Given the description of an element on the screen output the (x, y) to click on. 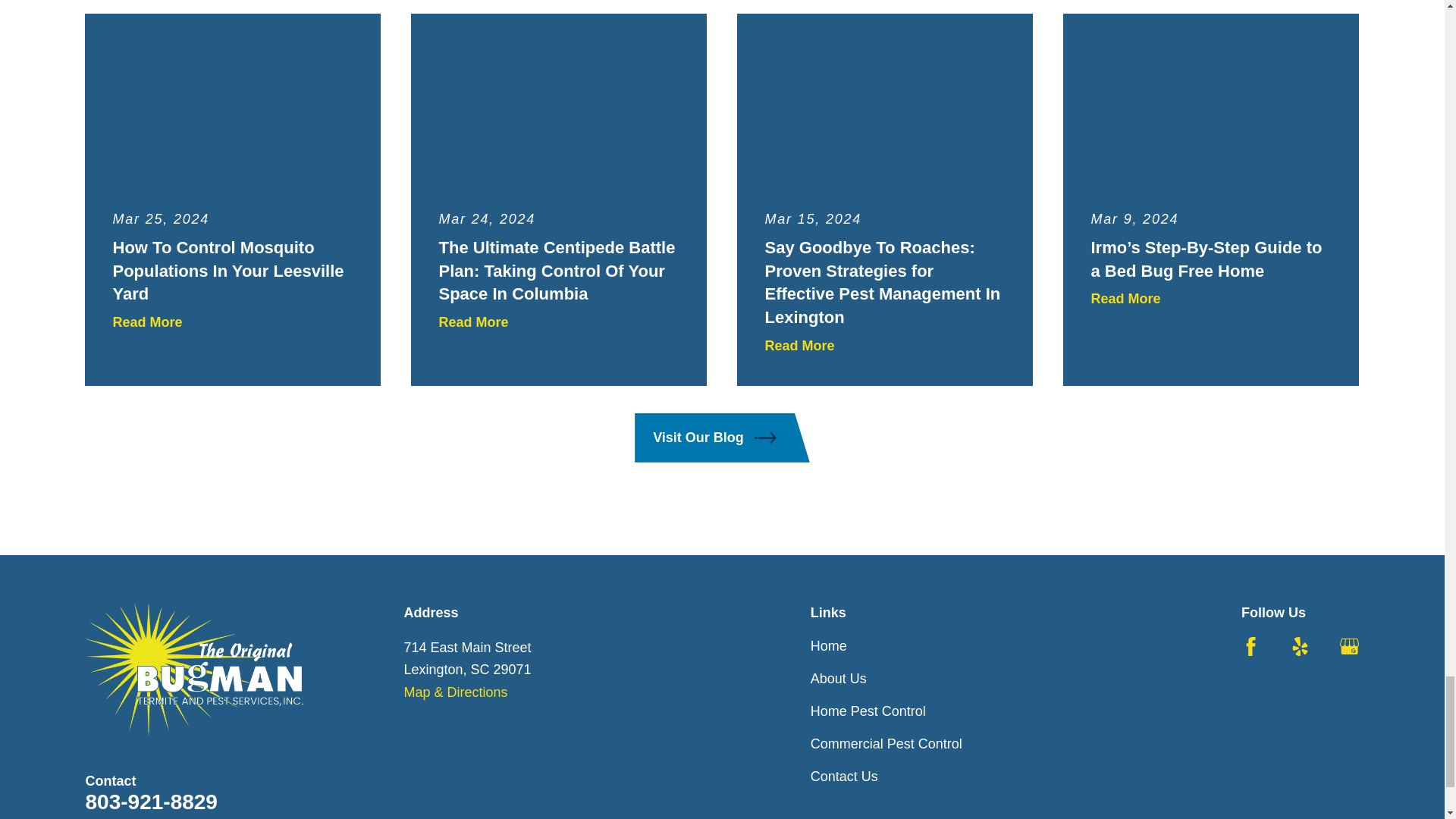
Yelp (1299, 646)
Home (193, 669)
Google Business Profile (1348, 646)
Facebook (1250, 646)
